Given the description of an element on the screen output the (x, y) to click on. 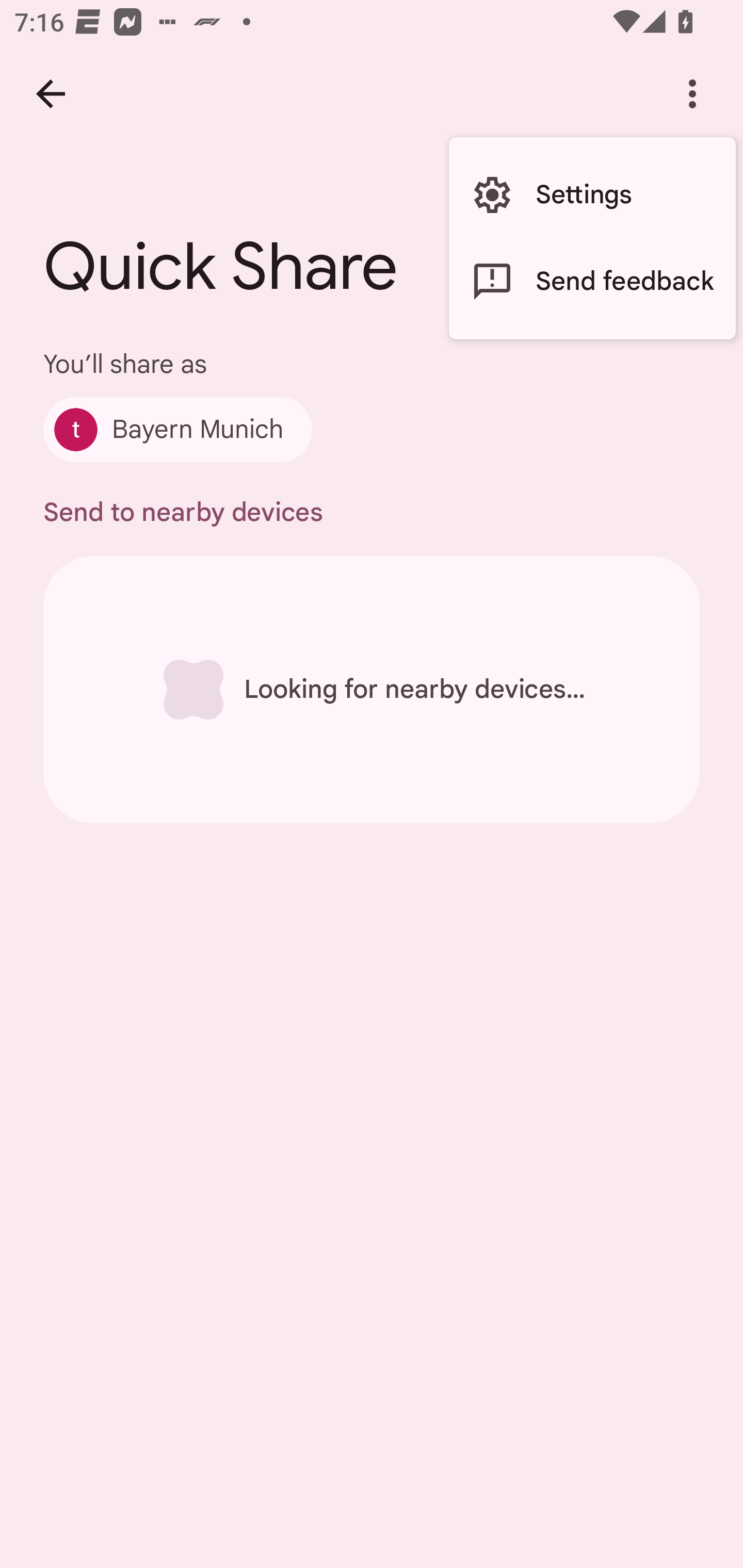
Settings (591, 195)
Send feedback (591, 281)
